Given the description of an element on the screen output the (x, y) to click on. 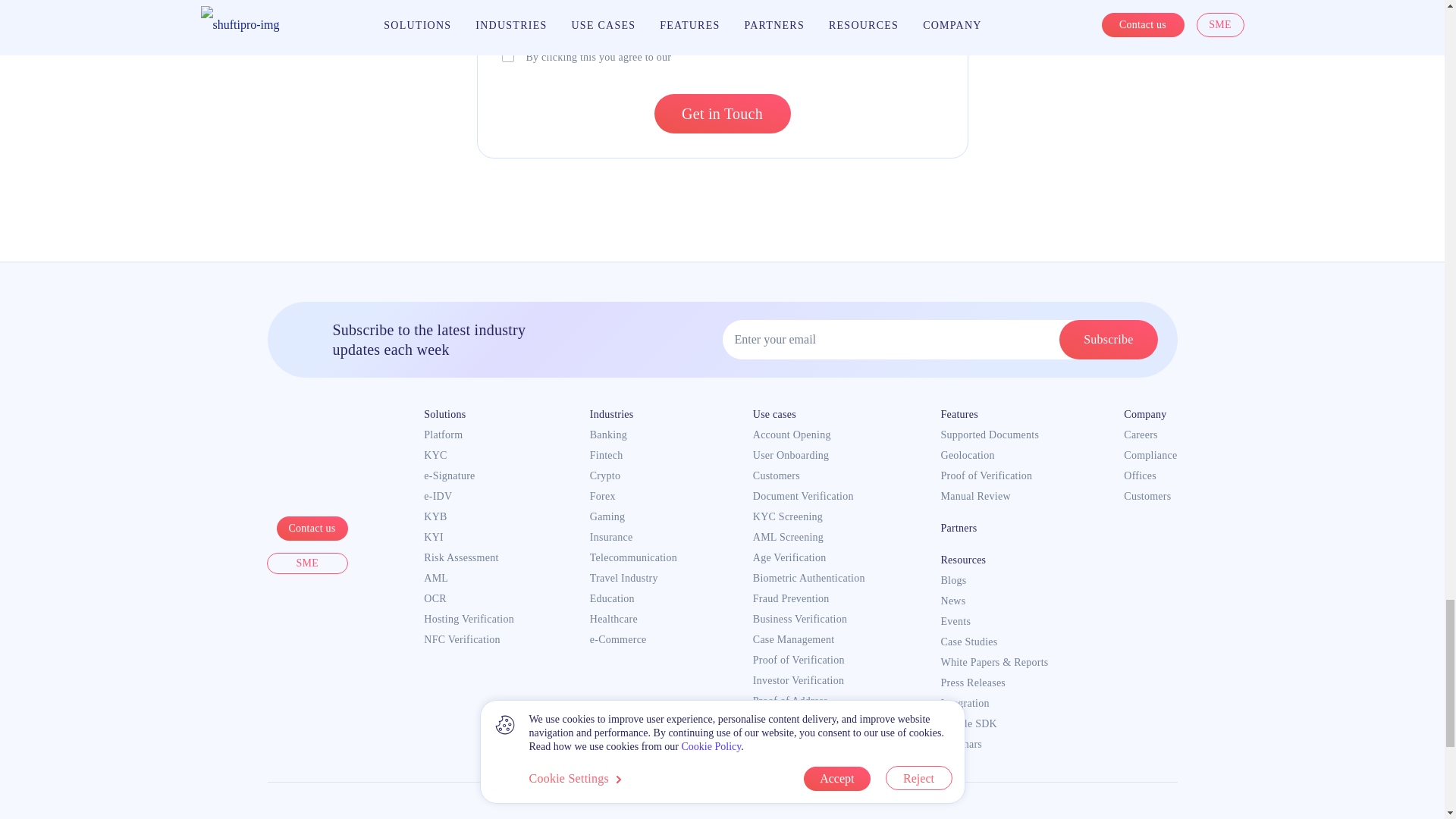
Get in Touch (721, 113)
Subscribe to our weekly newsletter (507, 41)
Subscribe (1108, 339)
By clicking this you agree to our (507, 55)
